Given the description of an element on the screen output the (x, y) to click on. 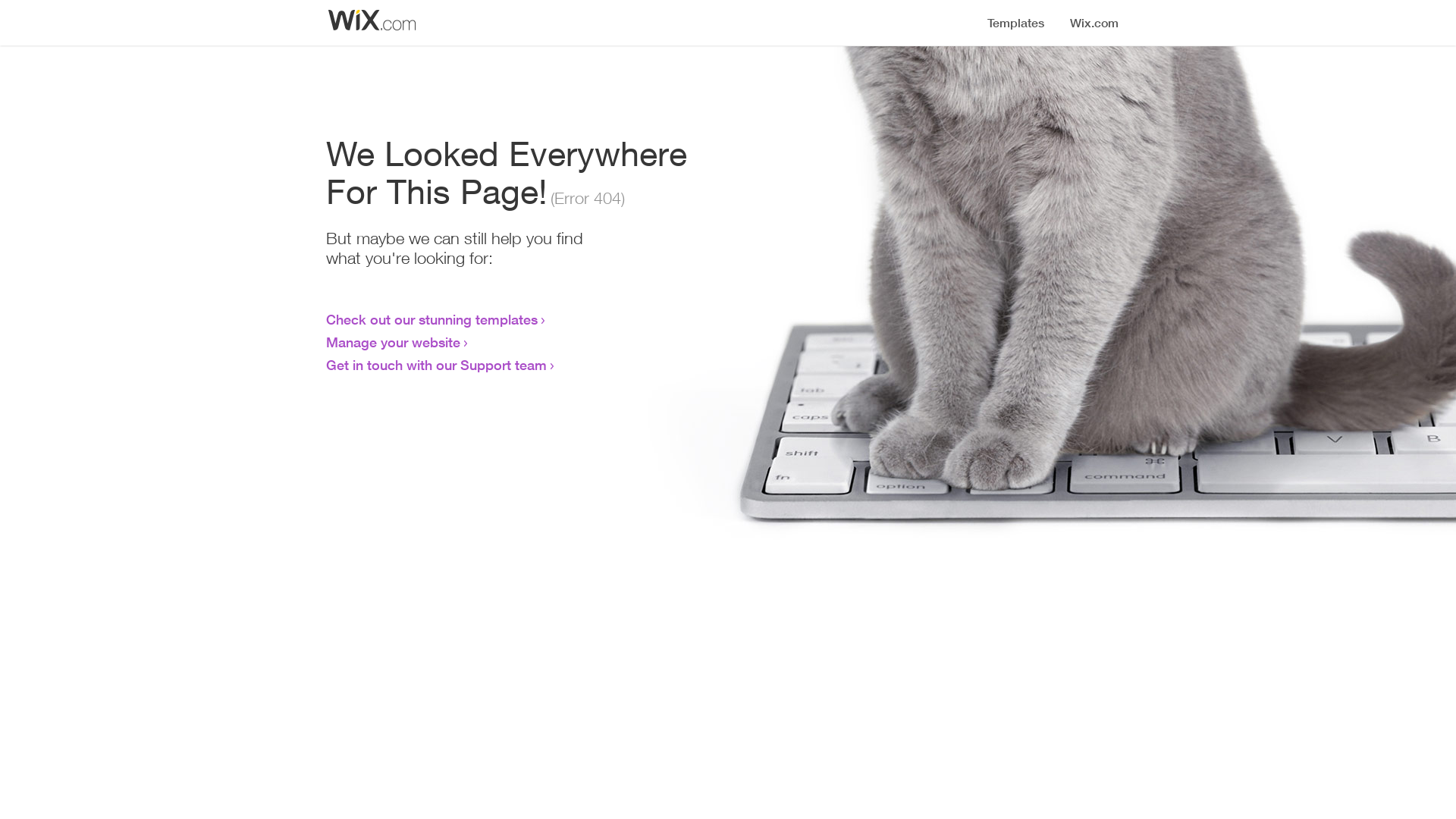
Manage your website Element type: text (393, 341)
Check out our stunning templates Element type: text (431, 318)
Get in touch with our Support team Element type: text (436, 364)
